Given the description of an element on the screen output the (x, y) to click on. 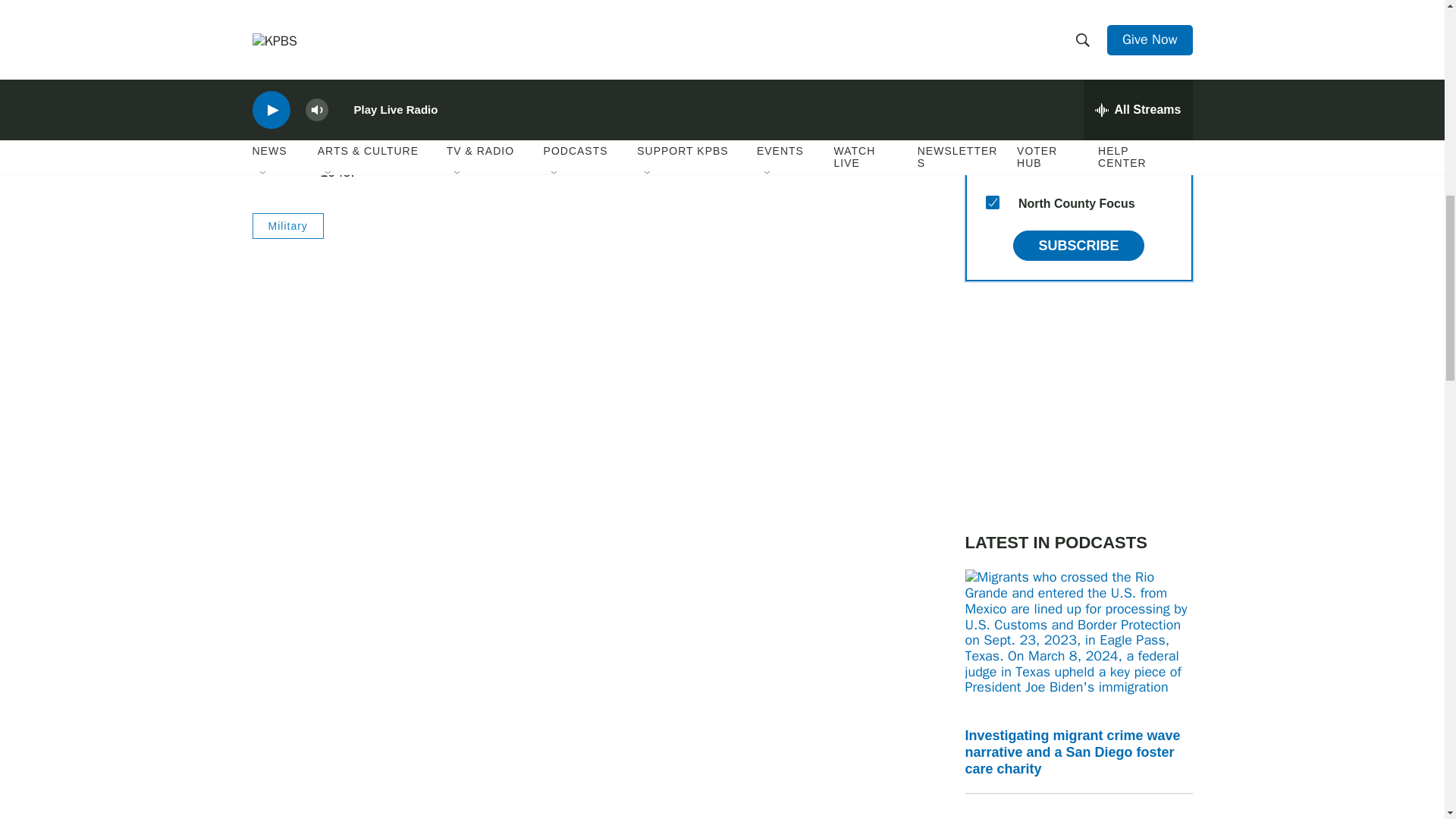
2 (991, 92)
8 (991, 165)
1 (991, 129)
6 (991, 56)
5 (991, 20)
15 (991, 202)
